Given the description of an element on the screen output the (x, y) to click on. 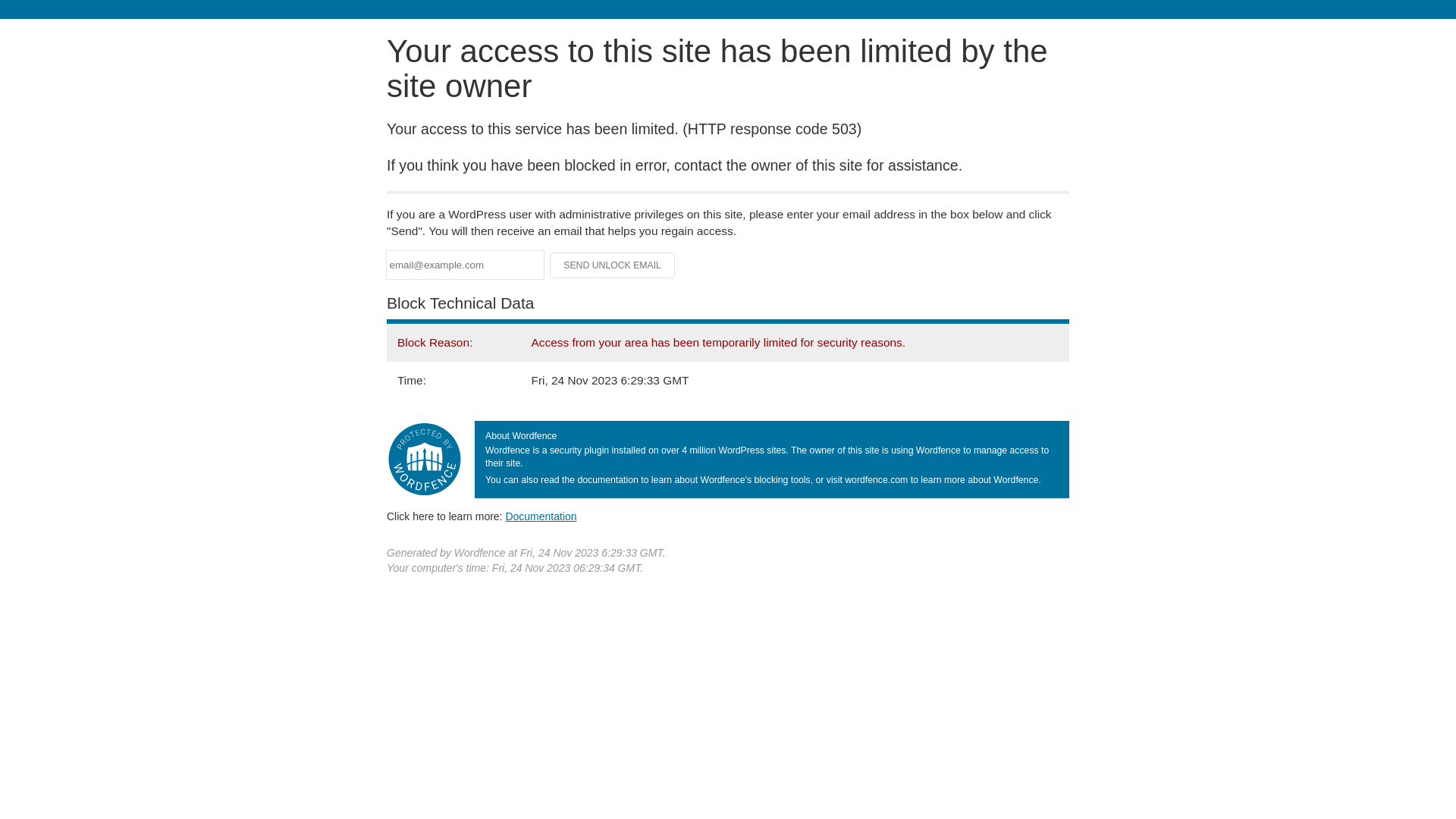
Send Unlock Email Element type: text (612, 265)
Documentation Element type: text (540, 516)
